Given the description of an element on the screen output the (x, y) to click on. 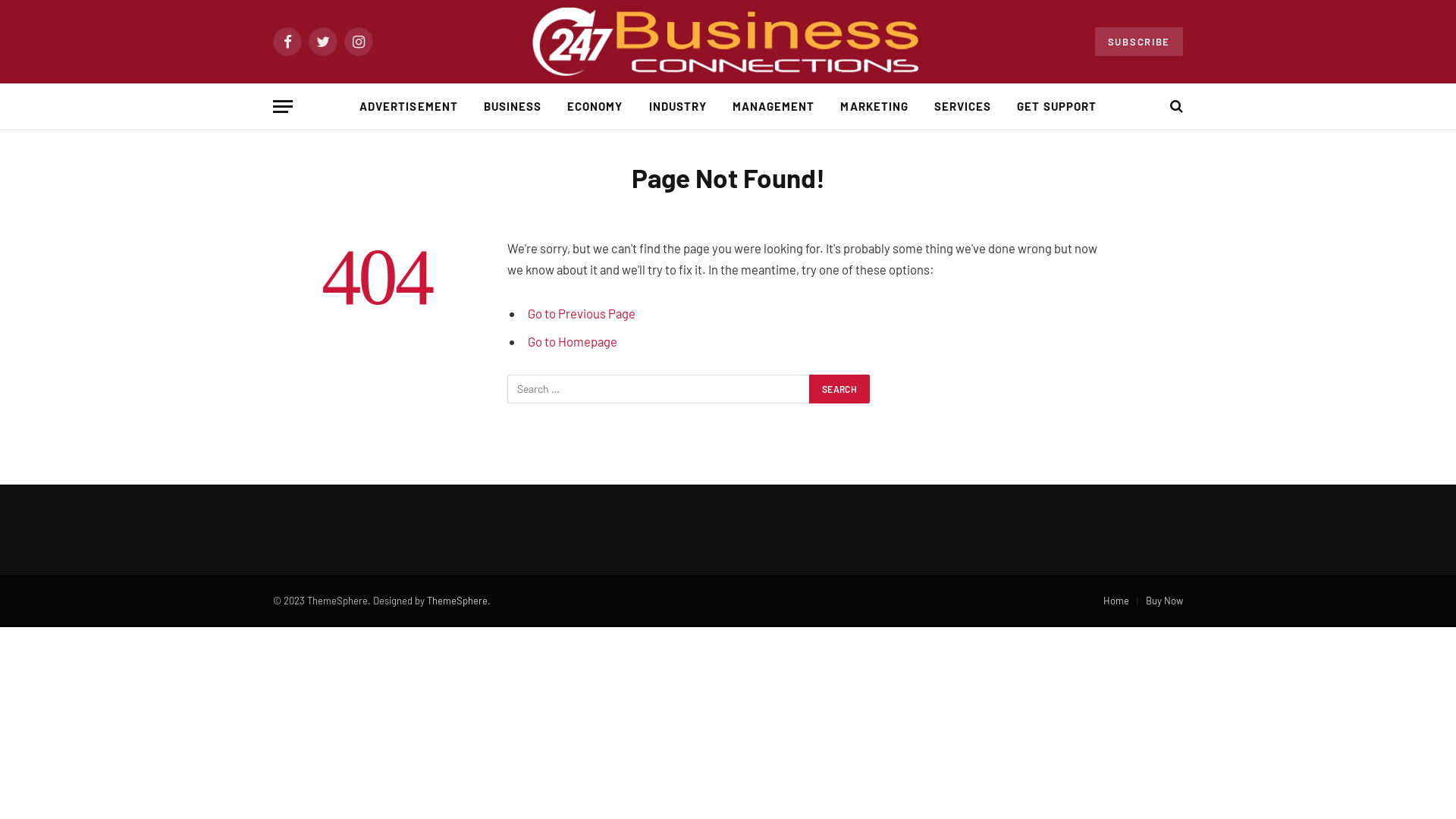
Home Element type: text (1116, 600)
Facebook Element type: text (287, 41)
BUSINESS Element type: text (512, 106)
ThemeSphere Element type: text (456, 600)
MARKETING Element type: text (873, 106)
Instagram Element type: text (358, 41)
INDUSTRY Element type: text (677, 106)
ECONOMY Element type: text (594, 106)
ADVERTISEMENT Element type: text (408, 106)
GET SUPPORT Element type: text (1056, 106)
MANAGEMENT Element type: text (773, 106)
Twitter Element type: text (322, 41)
Go to Previous Page Element type: text (581, 312)
Buy Now Element type: text (1164, 600)
SUBSCRIBE Element type: text (1139, 41)
Search Element type: text (839, 388)
SERVICES Element type: text (962, 106)
Go to Homepage Element type: text (572, 340)
Search Element type: hover (1175, 106)
